Given the description of an element on the screen output the (x, y) to click on. 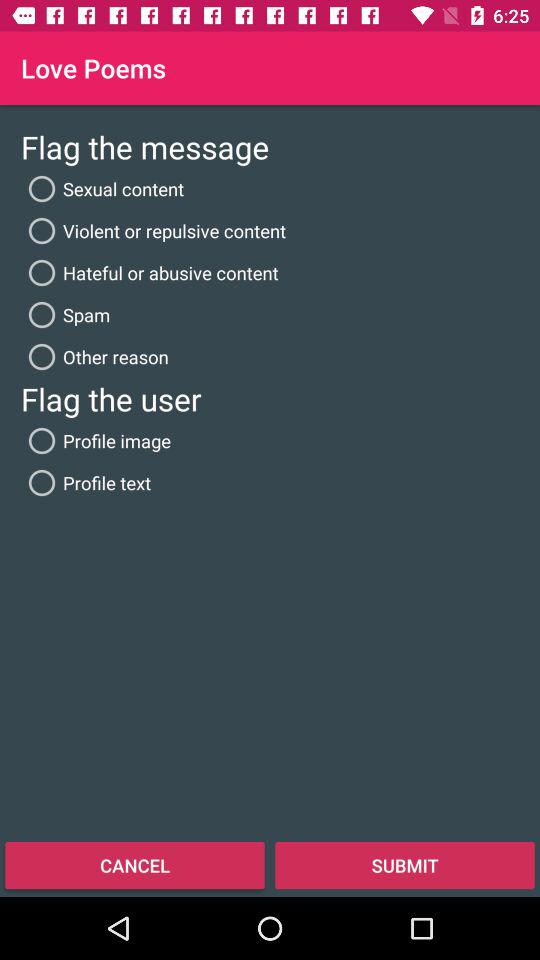
choose the cancel at the bottom left corner (135, 864)
